Given the description of an element on the screen output the (x, y) to click on. 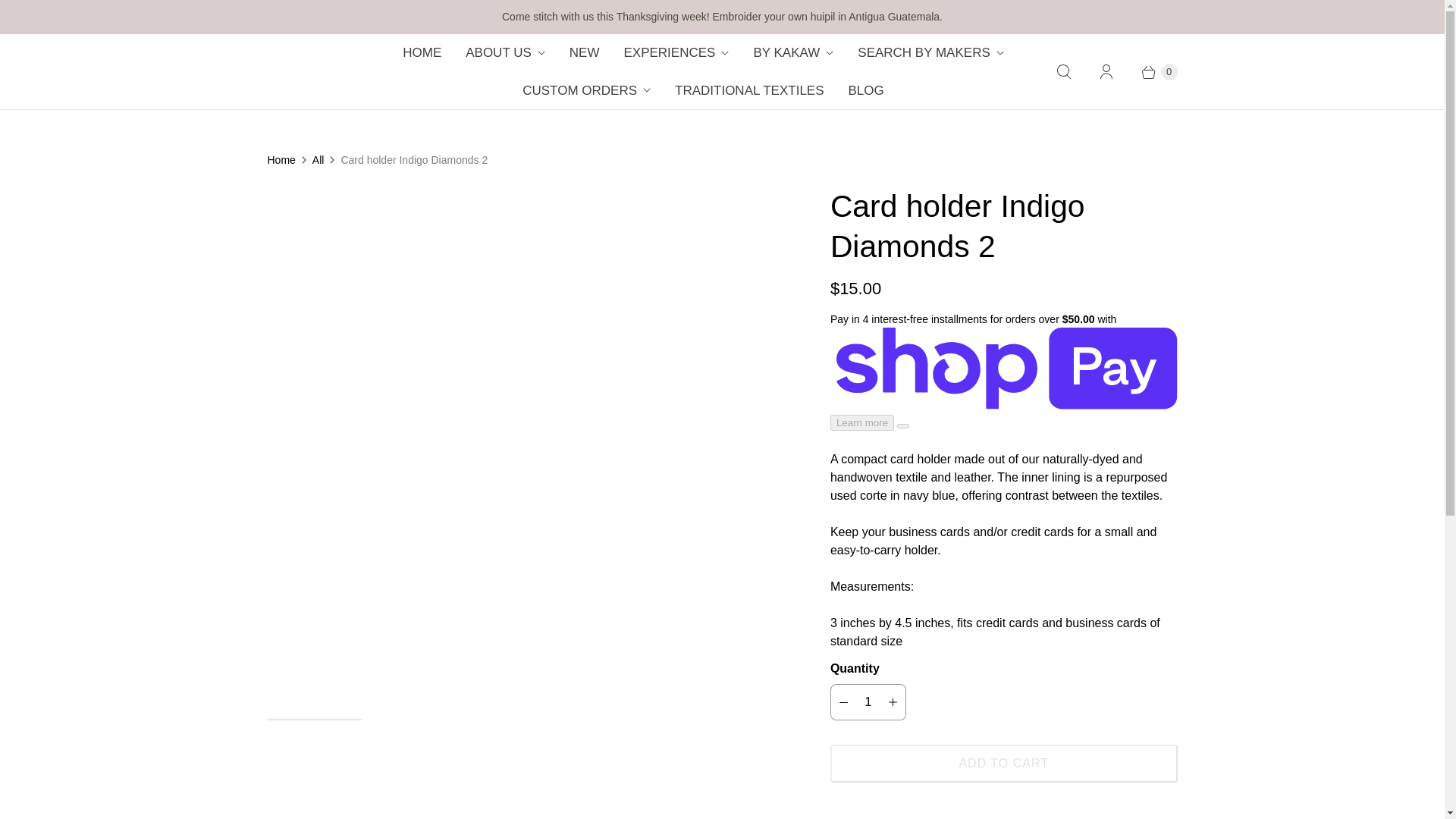
HOME (421, 53)
NEW (584, 53)
Card holder Indigo Diamonds 2 (526, 195)
